Given the description of an element on the screen output the (x, y) to click on. 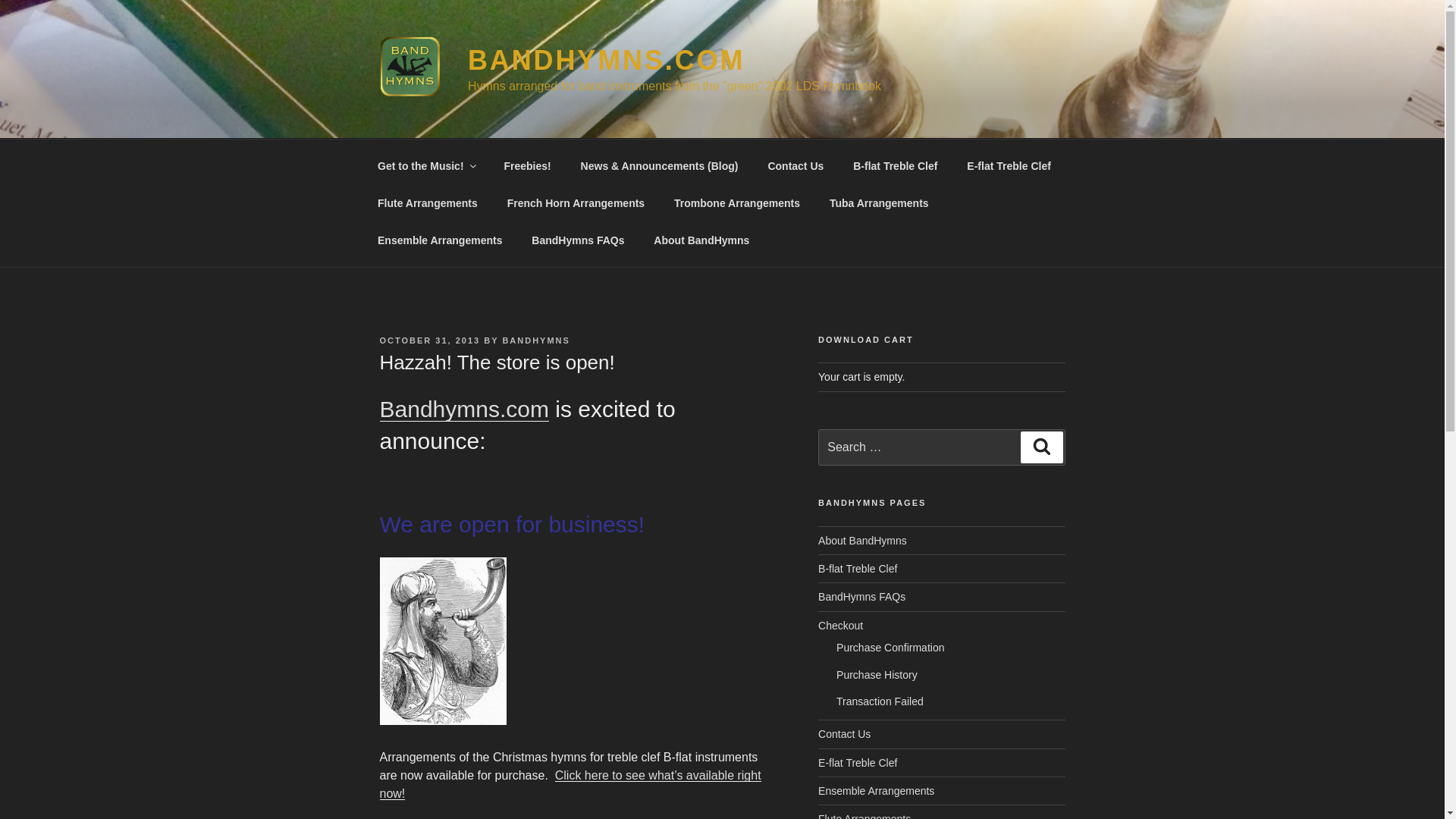
Get to the Music! (425, 165)
About BandHymns (701, 239)
BANDHYMNS.COM (605, 60)
E-flat Treble Clef (1008, 165)
Freebies! (527, 165)
Trombone Arrangements (737, 203)
Tuba Arrangements (878, 203)
OCTOBER 31, 2013 (429, 339)
About BandHymns (862, 540)
Get to the Music! (463, 408)
Ensemble Arrangements (439, 239)
Contact Us (795, 165)
Flute Arrangements (427, 203)
B-flat Treble Clef Arrangements (569, 784)
French Horn Arrangements (575, 203)
